Given the description of an element on the screen output the (x, y) to click on. 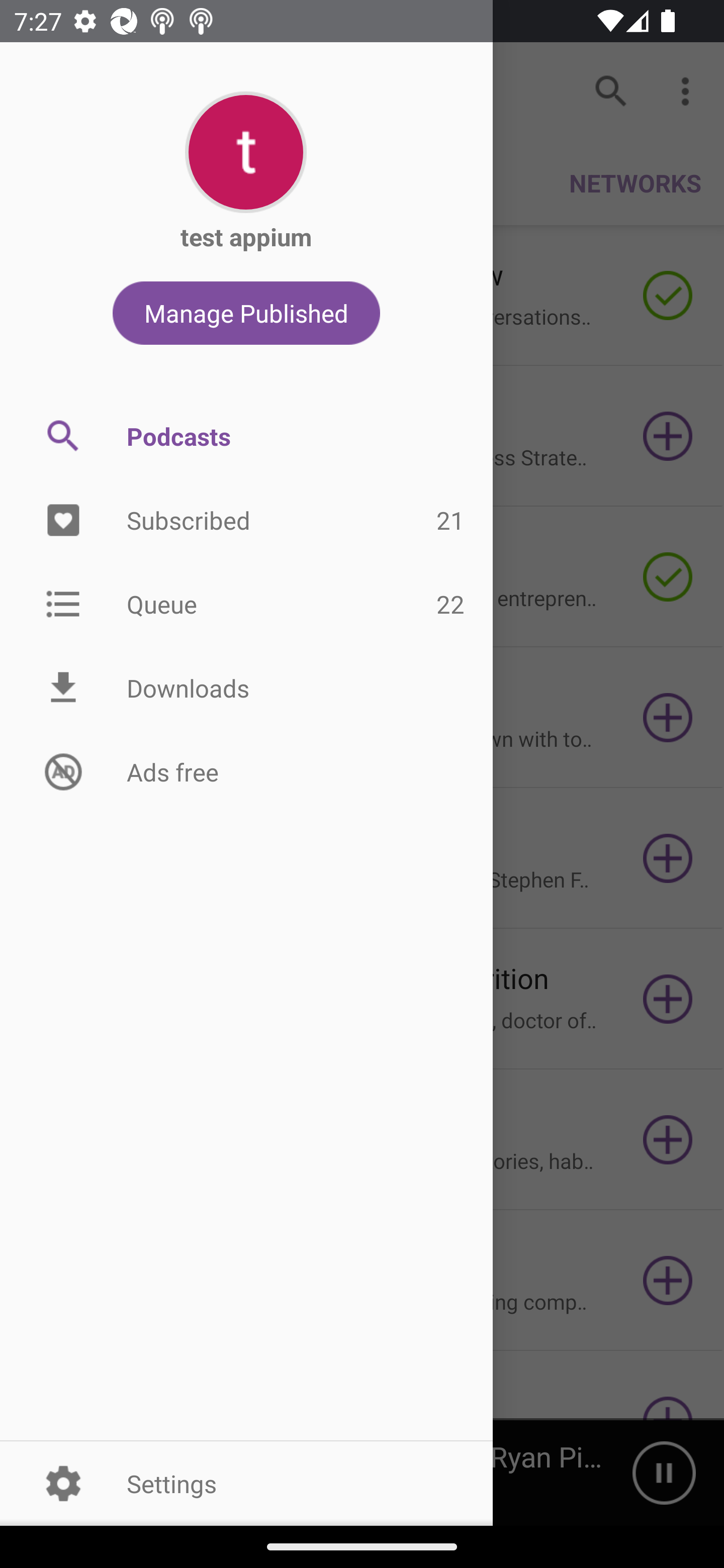
Manage Published (246, 312)
Picture Podcasts (246, 435)
Picture Subscribed 21 (246, 520)
Picture Queue 22 (246, 603)
Picture Downloads (246, 688)
Picture Ads free (246, 771)
Settings Picture Settings (246, 1482)
